Given the description of an element on the screen output the (x, y) to click on. 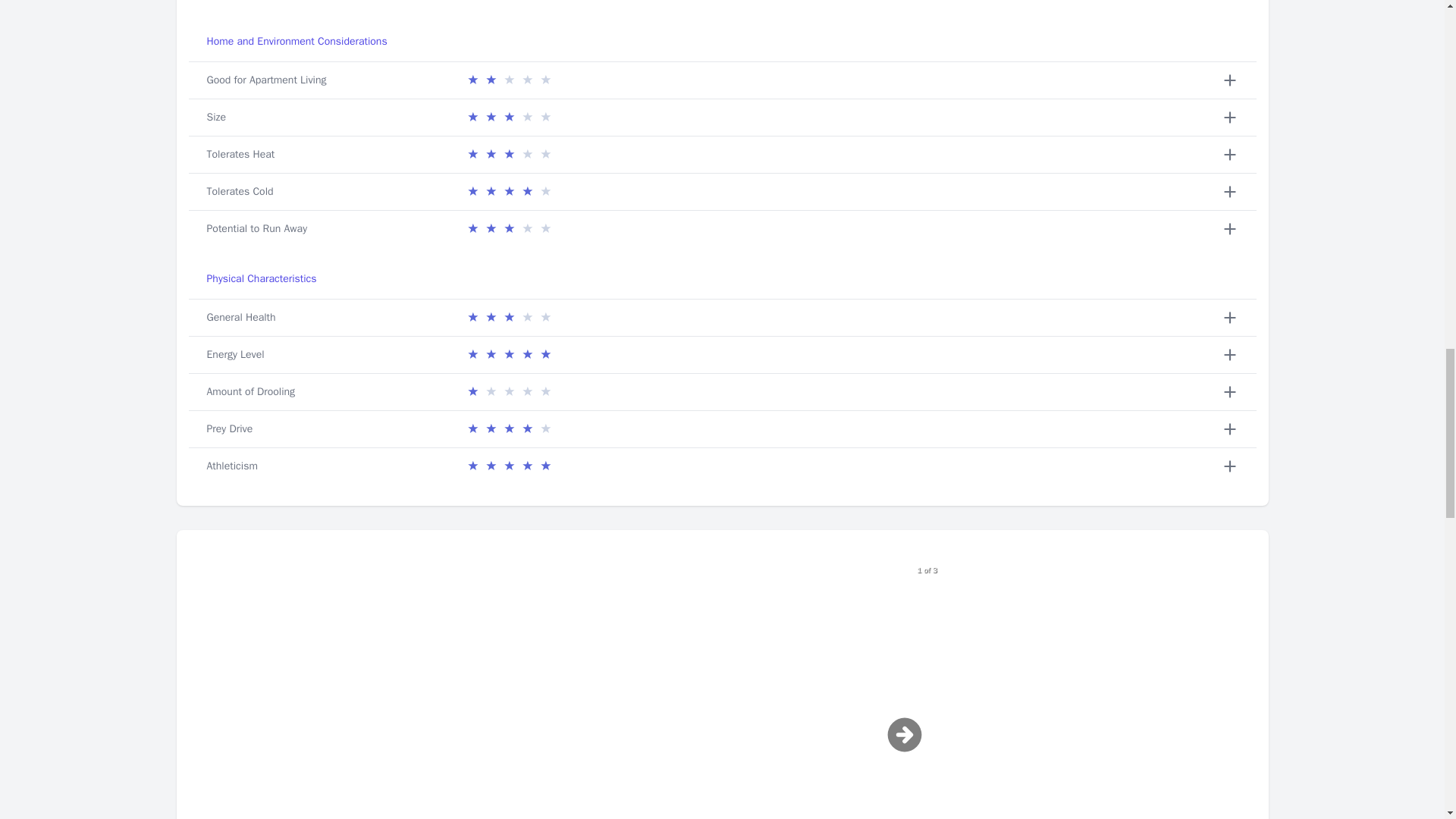
3 Stars (508, 117)
3 Stars (508, 154)
4 Stars (508, 191)
2 Stars (508, 80)
3 Stars (508, 229)
